Given the description of an element on the screen output the (x, y) to click on. 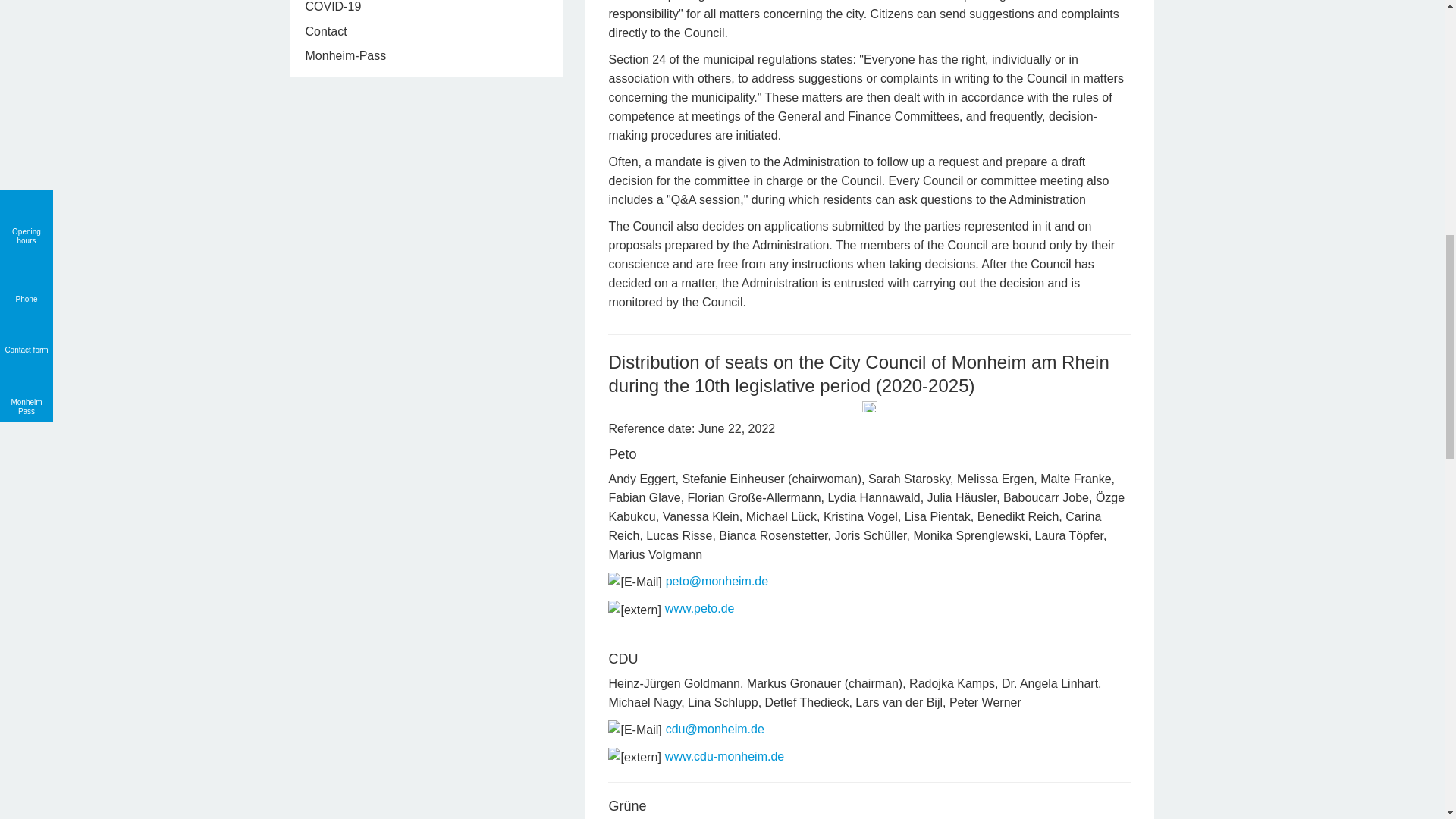
externer Link (634, 609)
E-Mail Link (634, 729)
E-Mail Link (634, 581)
externer Link (634, 756)
